Given the description of an element on the screen output the (x, y) to click on. 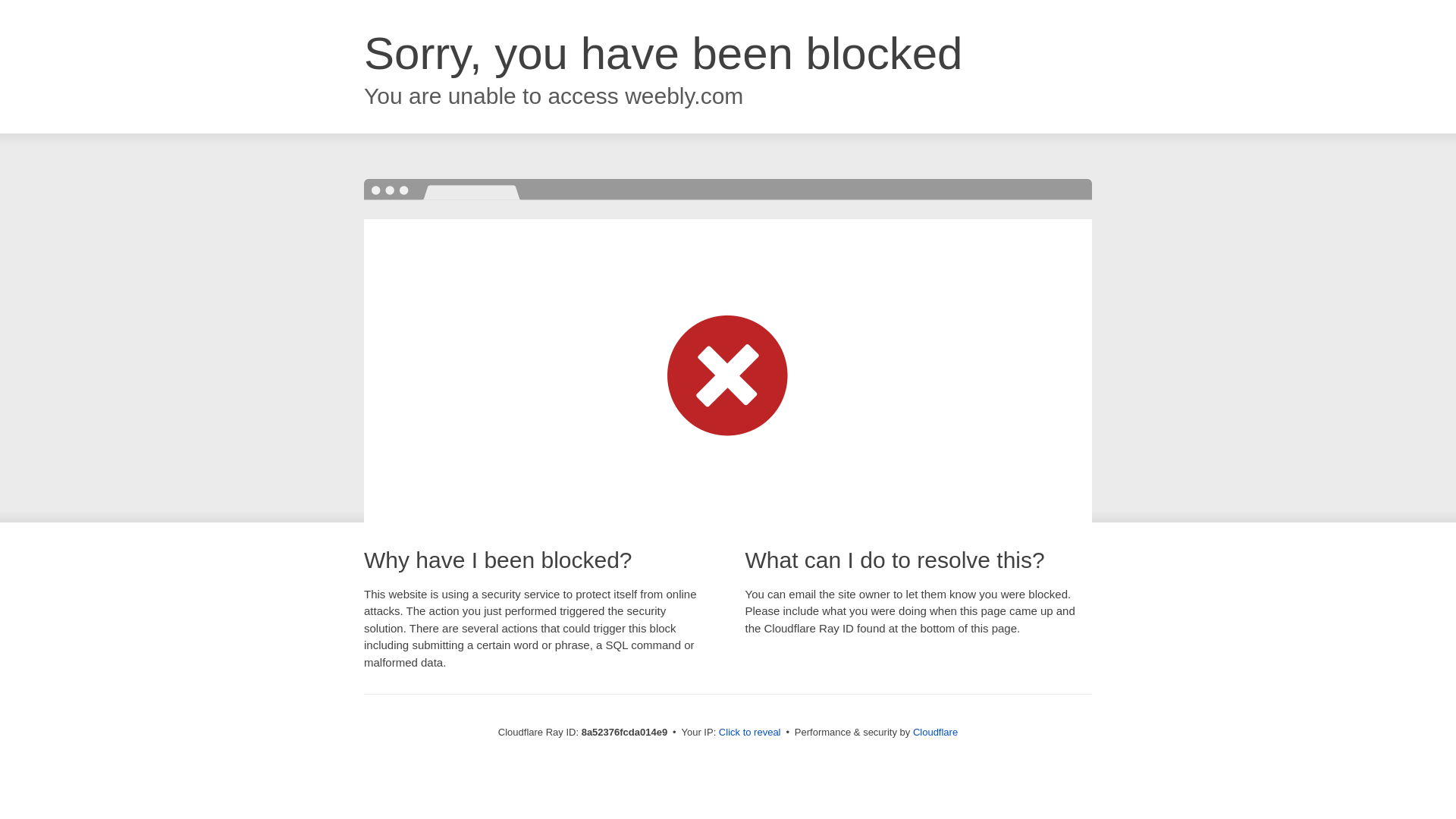
Click to reveal (749, 732)
Cloudflare (935, 731)
